Given the description of an element on the screen output the (x, y) to click on. 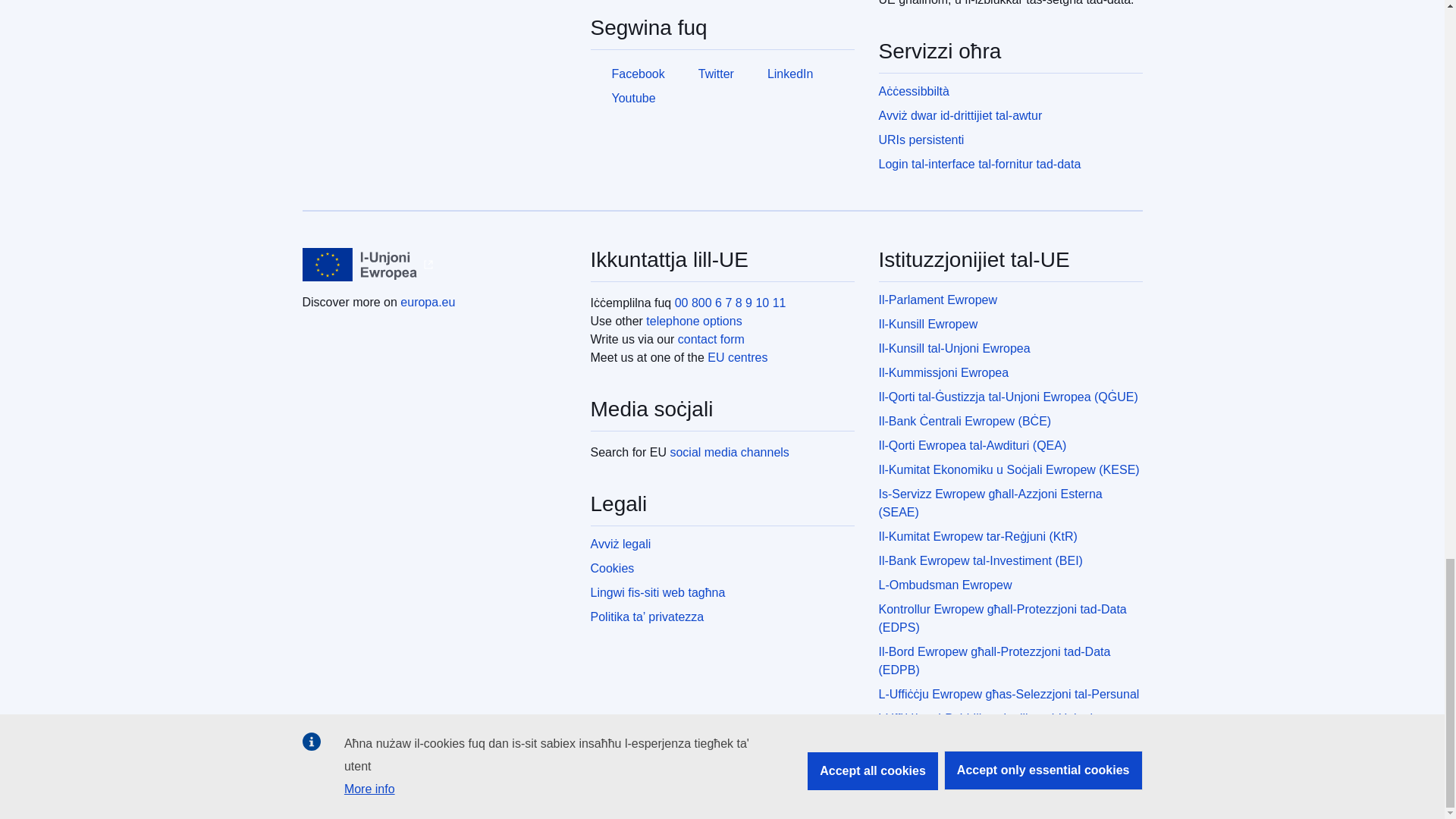
European Union (358, 264)
